Given the description of an element on the screen output the (x, y) to click on. 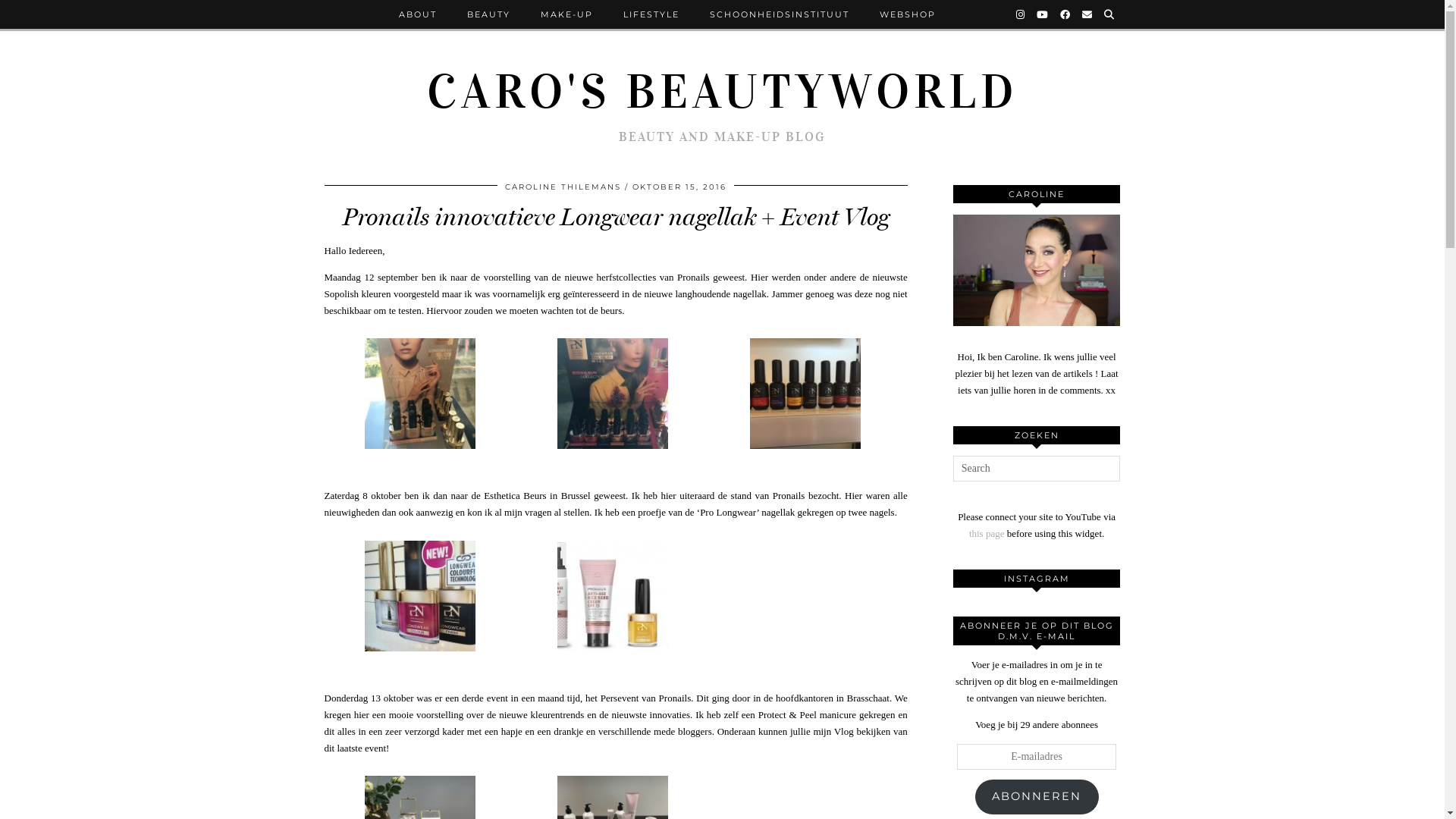
LIFESTYLE Element type: text (651, 14)
Email Element type: hover (1086, 14)
ABOUT Element type: text (417, 14)
this page Element type: text (986, 533)
Facebook Element type: hover (1065, 14)
CAROLINE THILEMANS Element type: text (563, 186)
WEBSHOP Element type: text (907, 14)
MAKE-UP Element type: text (566, 14)
CARO'S BEAUTYWORLD Element type: text (721, 91)
ABONNEREN Element type: text (1036, 796)
Instagram Element type: hover (1021, 14)
YouTube Element type: hover (1041, 14)
SCHOONHEIDSINSTITUUT Element type: text (779, 14)
Search Element type: hover (1109, 14)
BEAUTY Element type: text (488, 14)
